Given the description of an element on the screen output the (x, y) to click on. 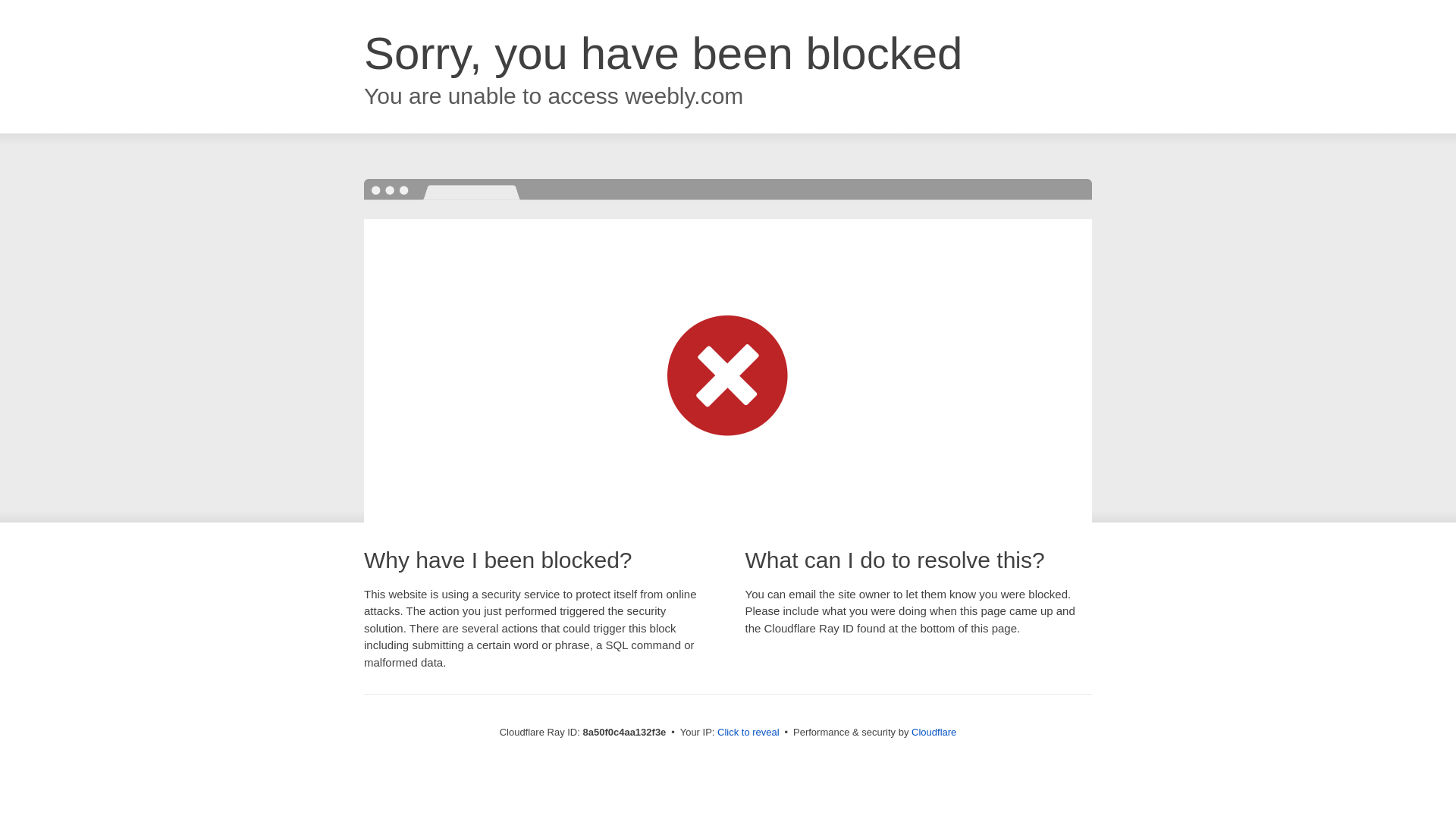
Click to reveal (747, 732)
Cloudflare (933, 731)
